Given the description of an element on the screen output the (x, y) to click on. 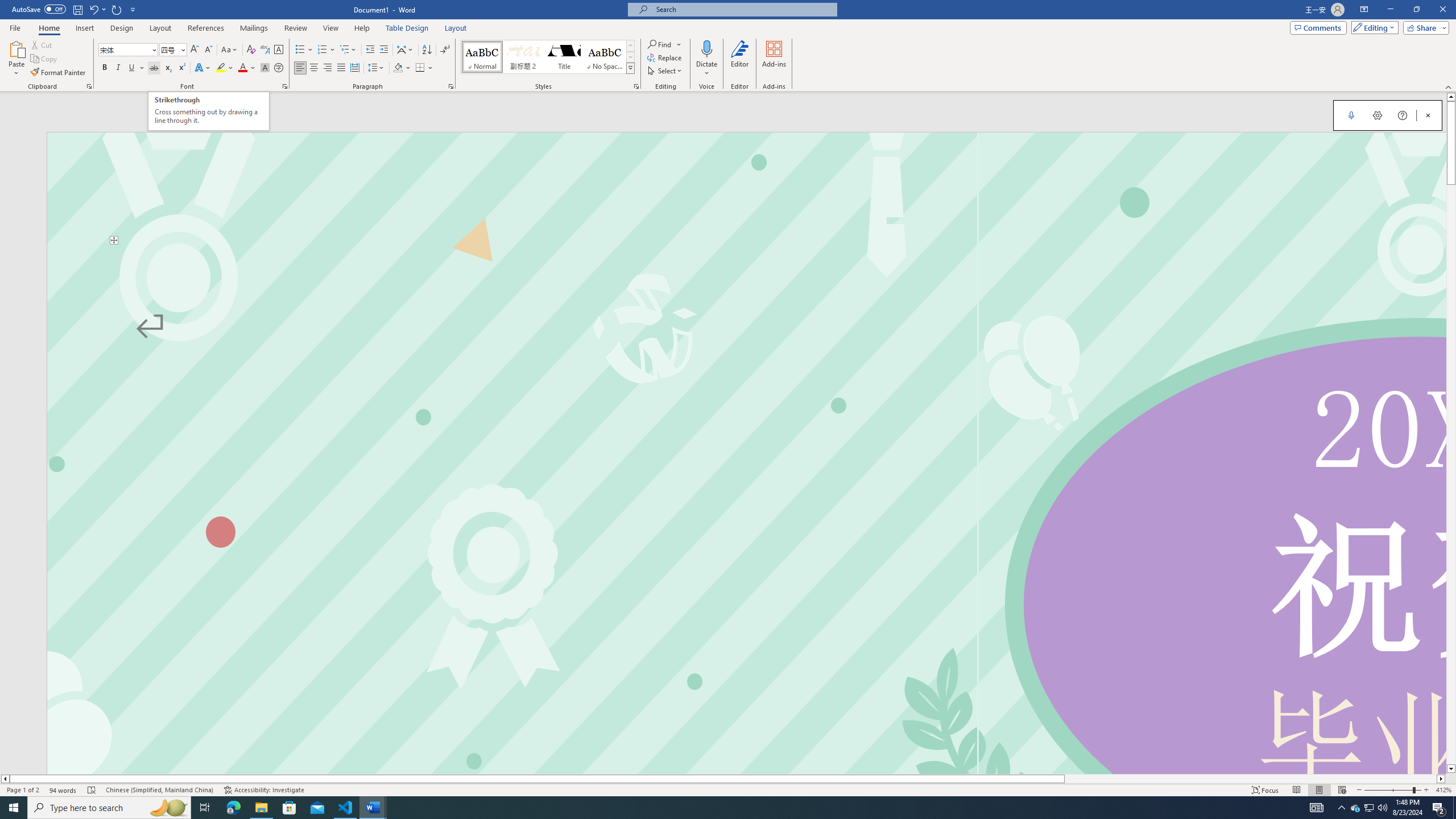
Close Dictation (1428, 115)
Page down (1450, 474)
Line up (1450, 96)
